Given the description of an element on the screen output the (x, y) to click on. 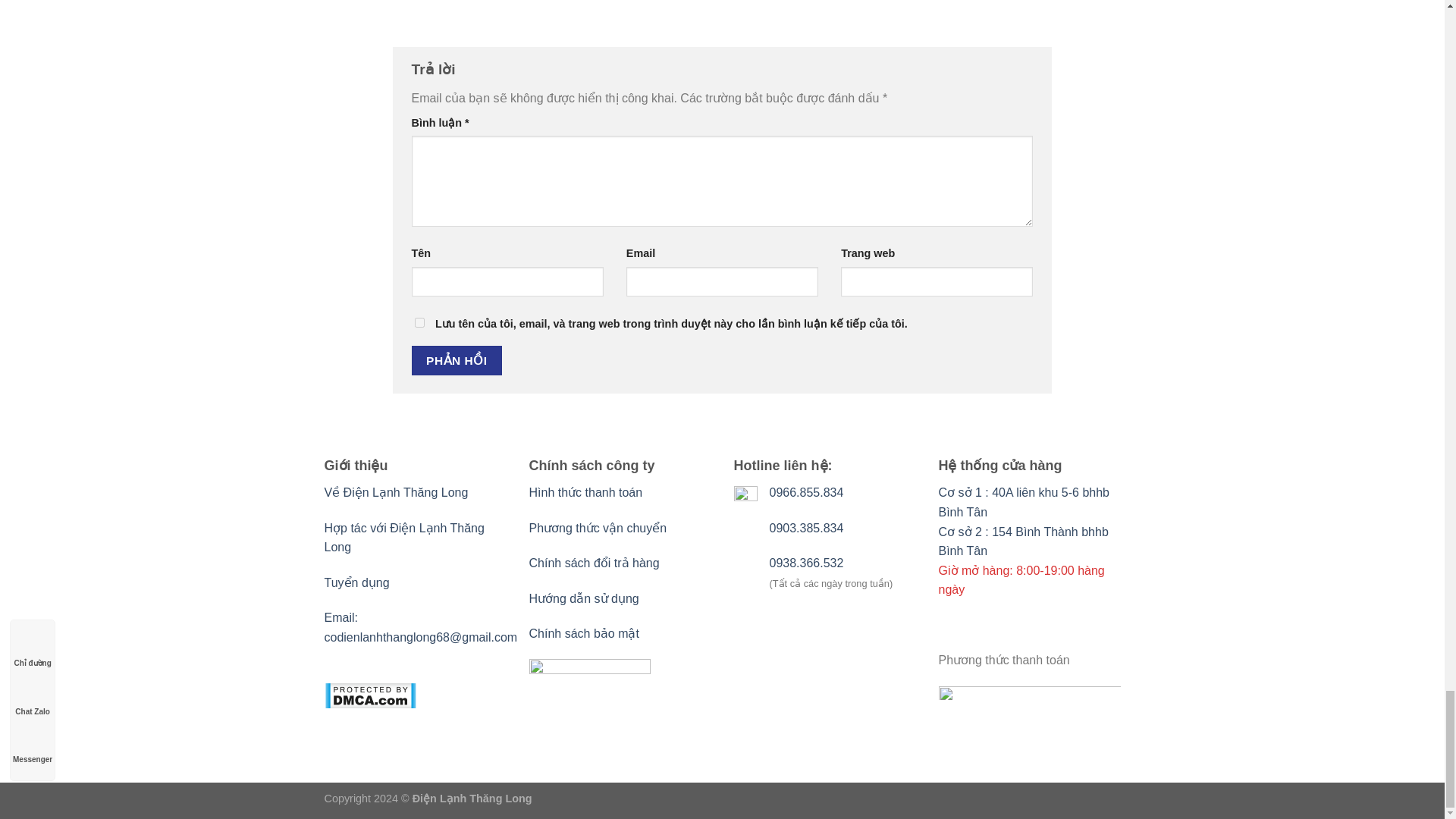
DMCA.com Protection Status (370, 705)
DMCA.com Protection Status (421, 626)
yes (418, 322)
